Given the description of an element on the screen output the (x, y) to click on. 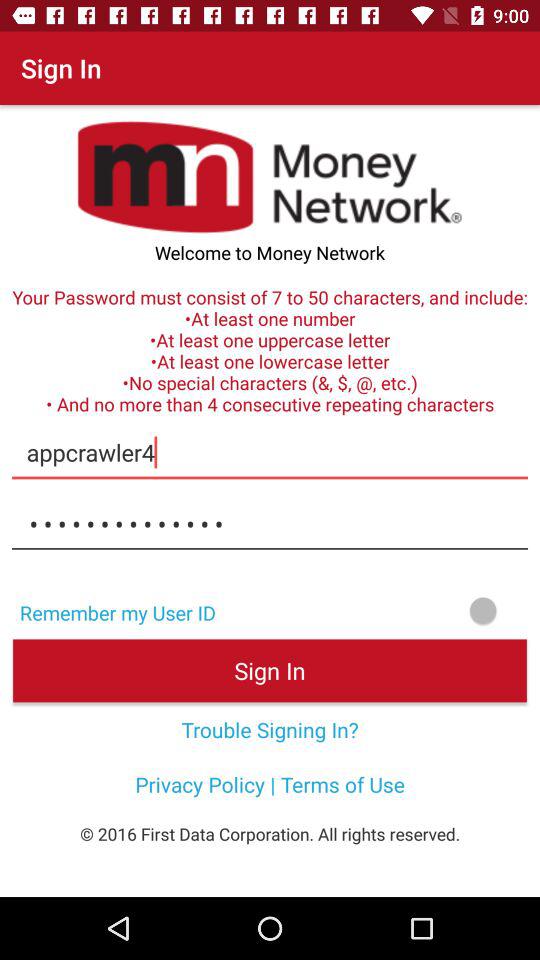
turn on icon above 2016 first data icon (270, 784)
